Given the description of an element on the screen output the (x, y) to click on. 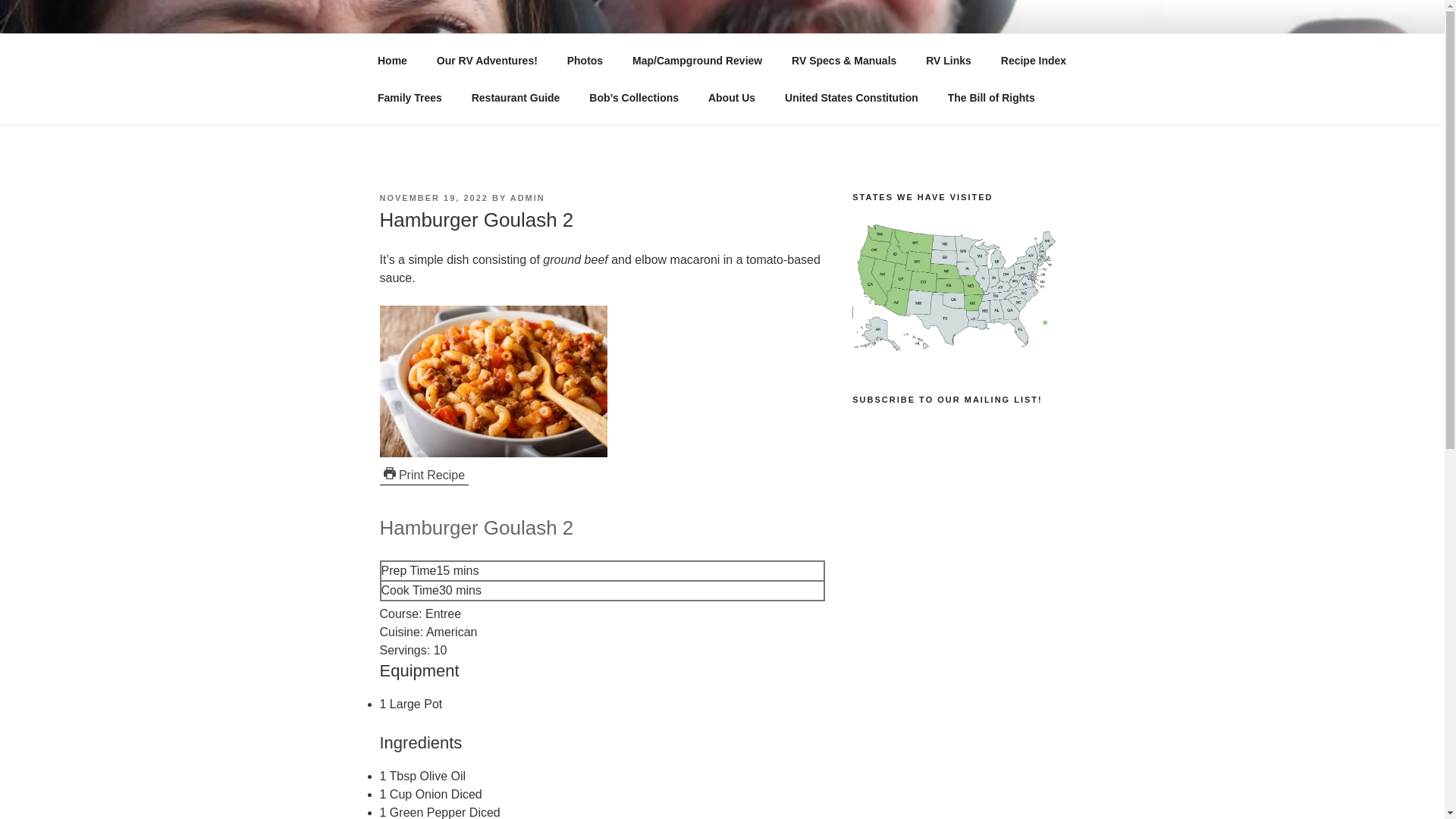
Print Recipe (423, 475)
Restaurant Guide (515, 97)
Recipe Index (1032, 60)
United States Constitution (851, 97)
About Us (731, 97)
ADMIN (527, 197)
RV Links (948, 60)
Photos (584, 60)
NOVEMBER 19, 2022 (432, 197)
Home (392, 60)
